Given the description of an element on the screen output the (x, y) to click on. 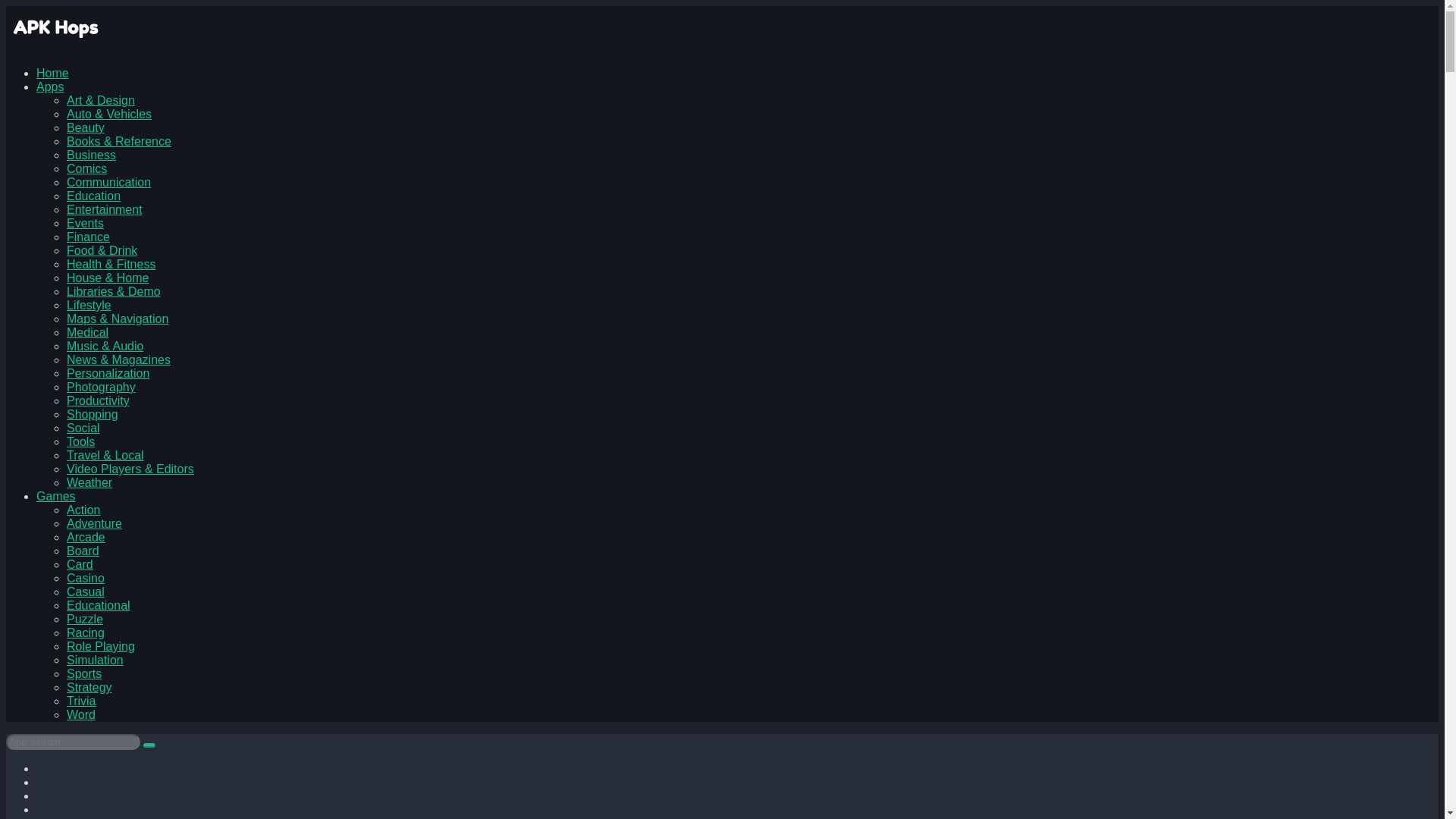
App search (148, 744)
